Given the description of an element on the screen output the (x, y) to click on. 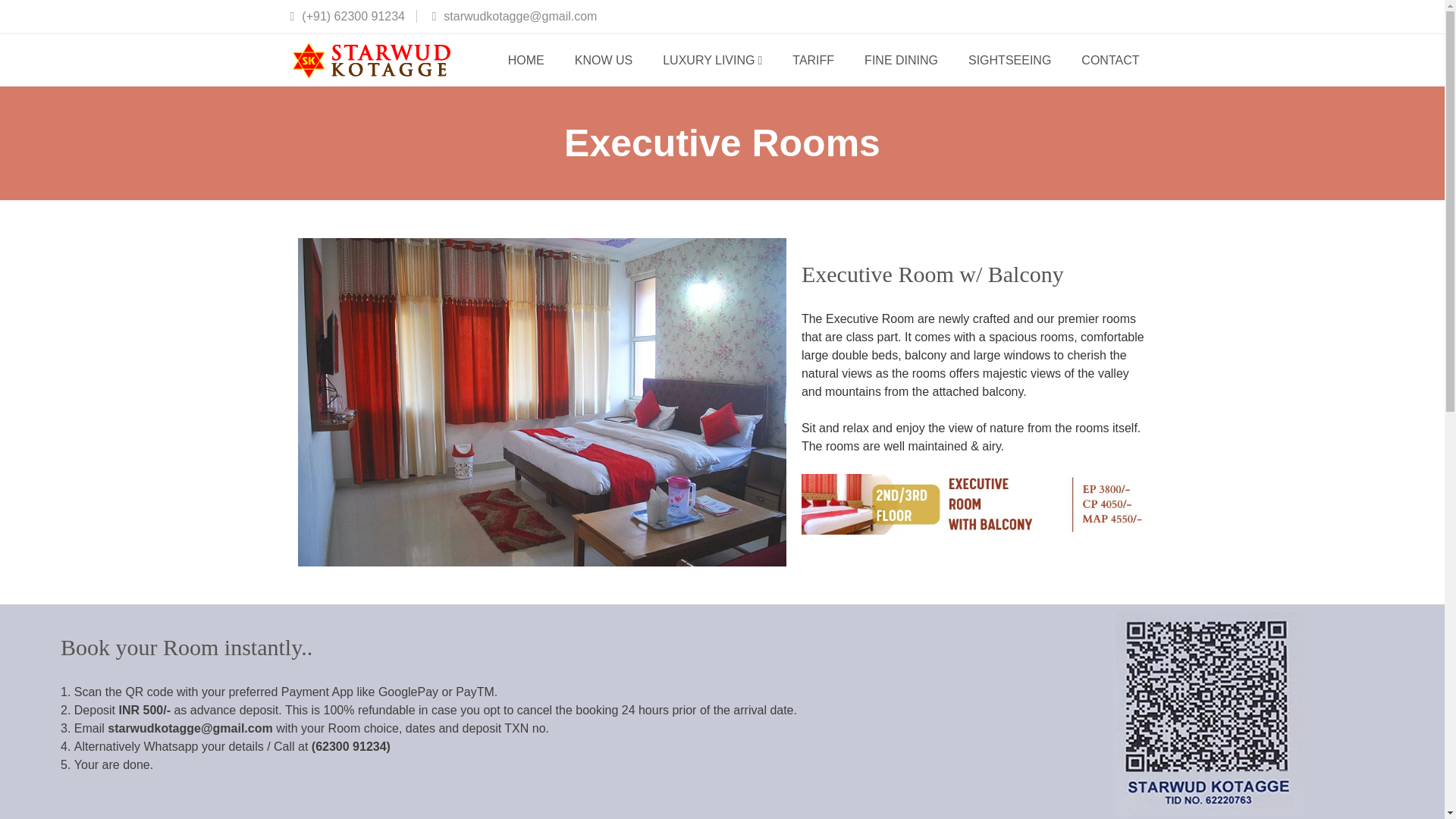
LUXURY LIVING (712, 59)
FINE DINING (900, 59)
SIGHTSEEING (1009, 59)
CONTACT (1109, 59)
HOME (526, 59)
KNOW US (603, 59)
TARIFF (812, 59)
